Given the description of an element on the screen output the (x, y) to click on. 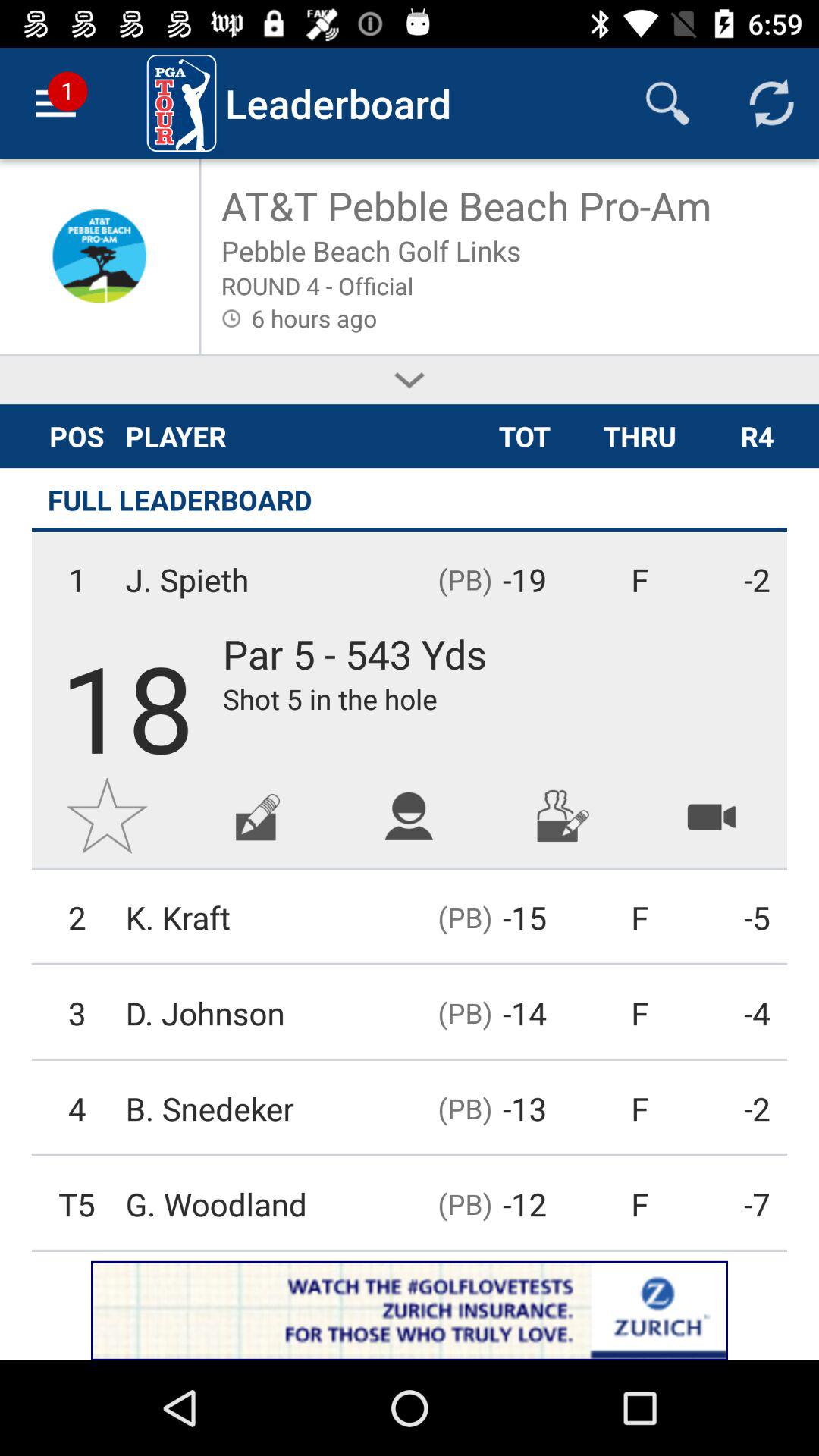
announcement (409, 1310)
